Given the description of an element on the screen output the (x, y) to click on. 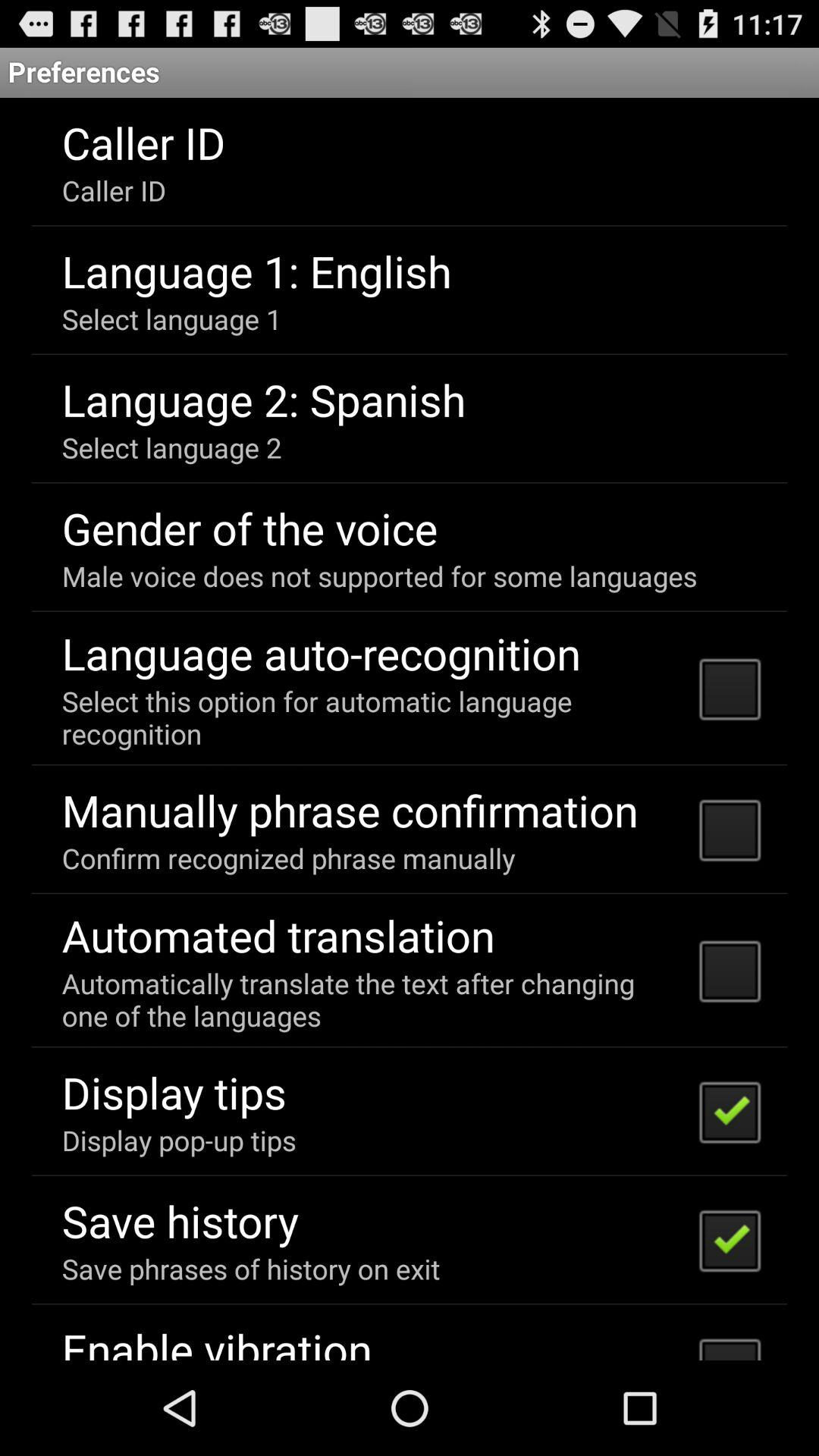
turn on the icon above language auto-recognition icon (379, 575)
